Given the description of an element on the screen output the (x, y) to click on. 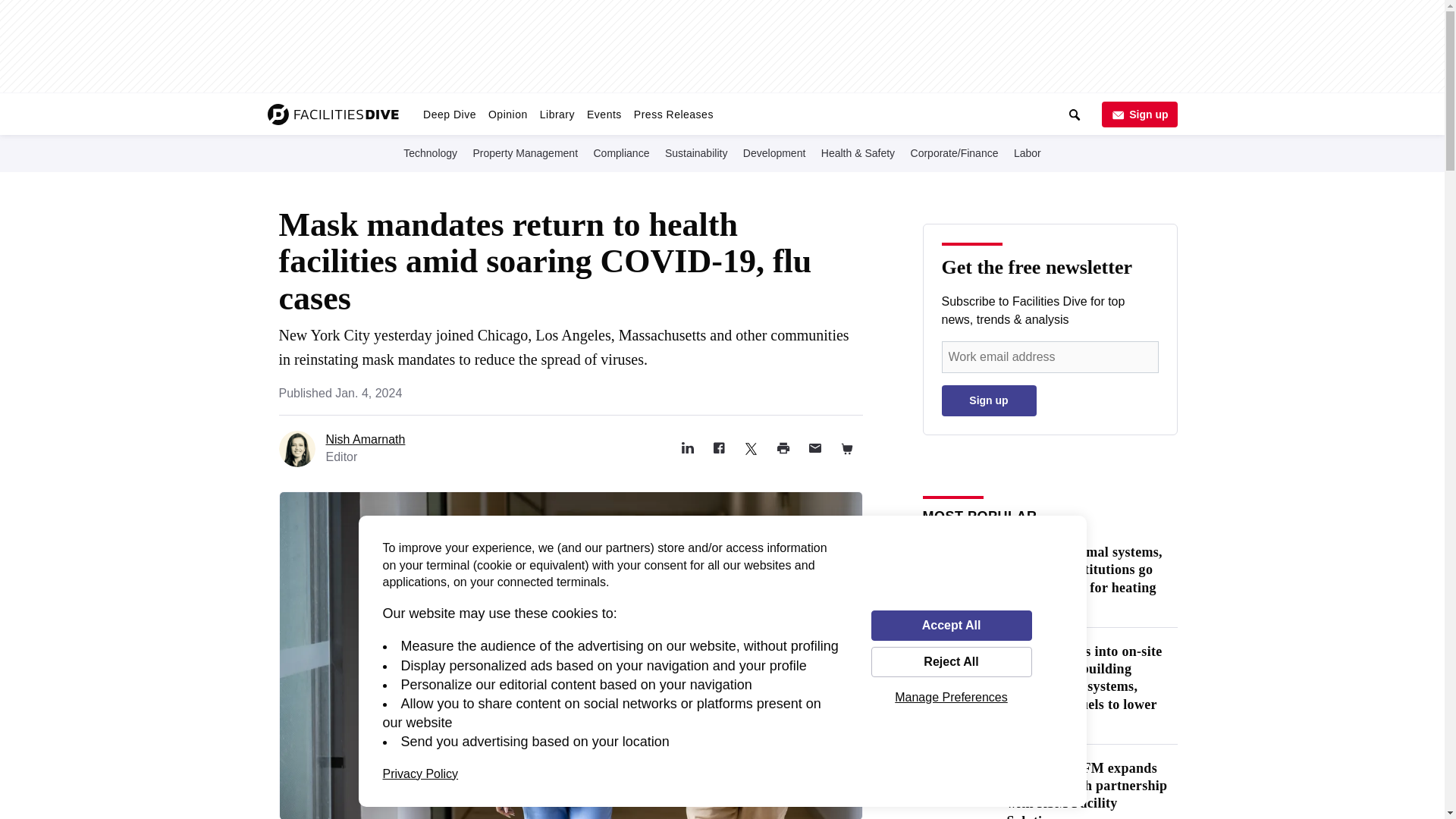
Deep Dive (448, 114)
Compliance (620, 152)
Opinion (507, 114)
Library (557, 114)
Reject All (950, 662)
Technology (430, 152)
Sustainability (696, 152)
Manage Preferences (950, 697)
Labor (1026, 152)
Development (774, 152)
Nish Amarnath (366, 439)
Sign up (1138, 114)
Property Management (525, 152)
Privacy Policy (419, 773)
Events (603, 114)
